Given the description of an element on the screen output the (x, y) to click on. 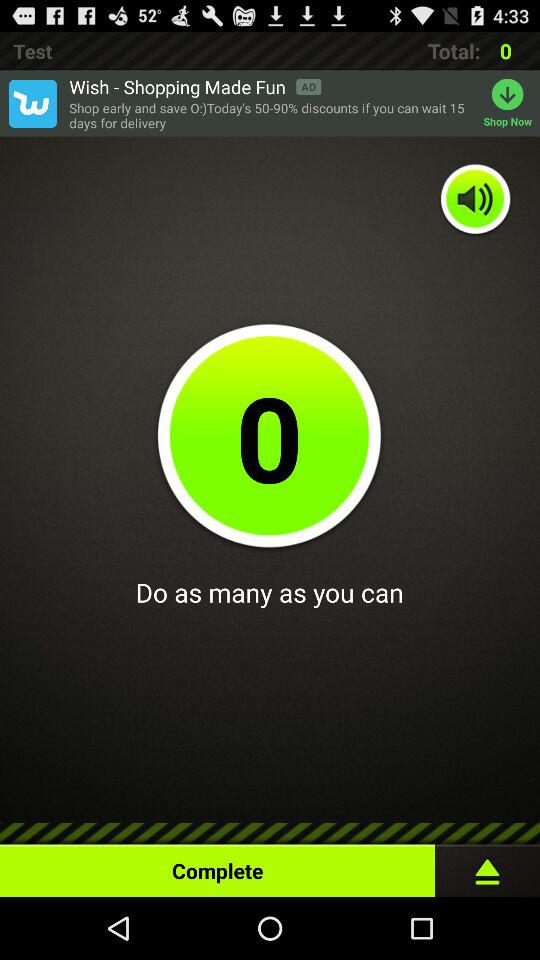
turn on shop early and app (271, 115)
